Given the description of an element on the screen output the (x, y) to click on. 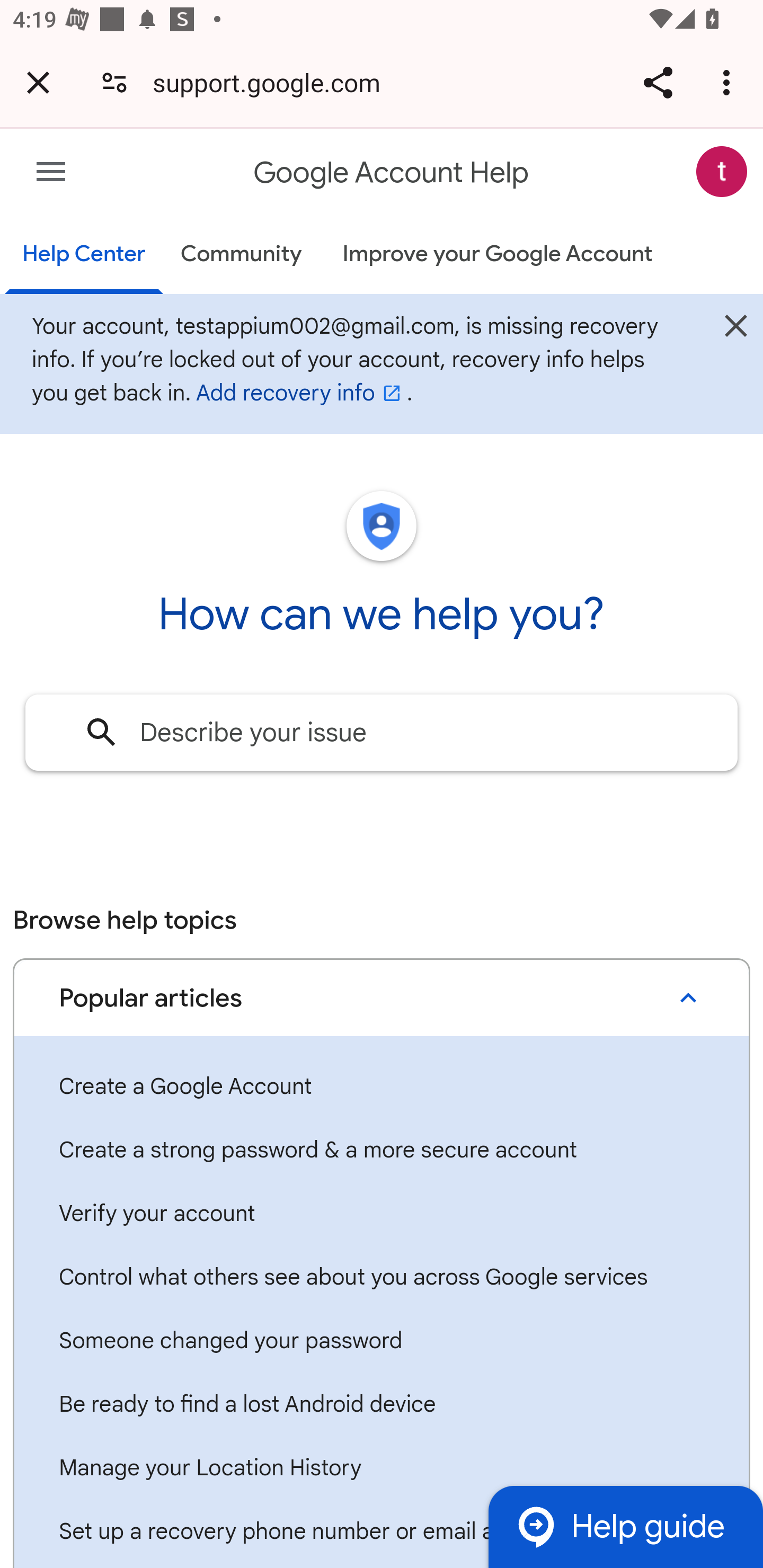
Close tab (38, 82)
Share (657, 82)
Customize and control Google Chrome (729, 82)
Connection is secure (114, 81)
support.google.com (272, 81)
Main menu (50, 171)
Google Account Help (390, 173)
Help Center (83, 255)
Community (240, 253)
Improve your Google Account (497, 253)
Close (736, 330)
Add recovery info (300, 392)
Search (101, 732)
Popular articles, Expanded list with 11 items (381, 997)
Create a Google Account (381, 1087)
Create a strong password & a more secure account (381, 1150)
Verify your account (381, 1214)
Someone changed your password (381, 1341)
Be ready to find a lost Android device (381, 1404)
Manage your Location History (381, 1468)
Help guide (625, 1527)
Set up a recovery phone number or email address (381, 1531)
